Given the description of an element on the screen output the (x, y) to click on. 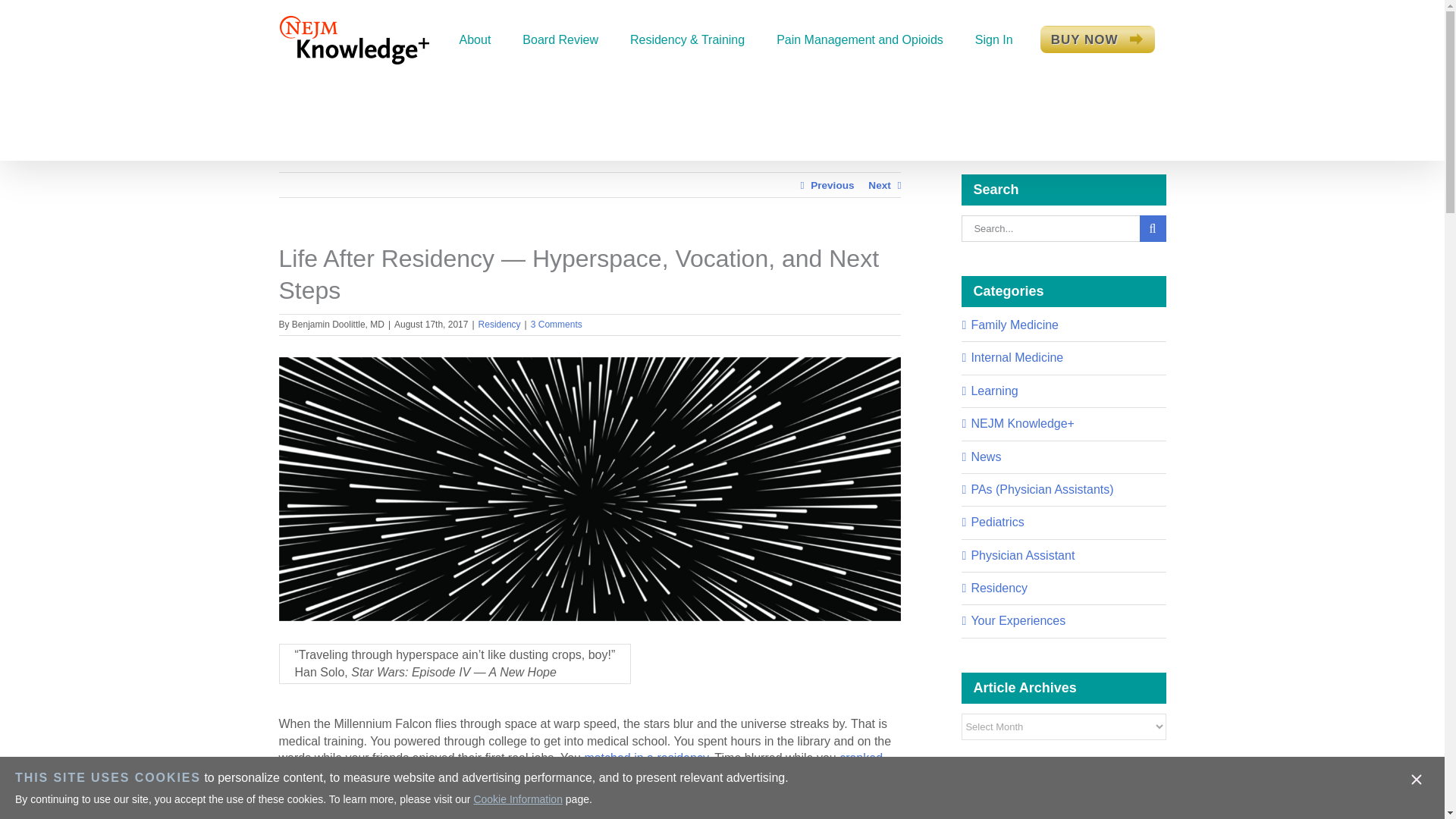
Board Review (560, 40)
